Given the description of an element on the screen output the (x, y) to click on. 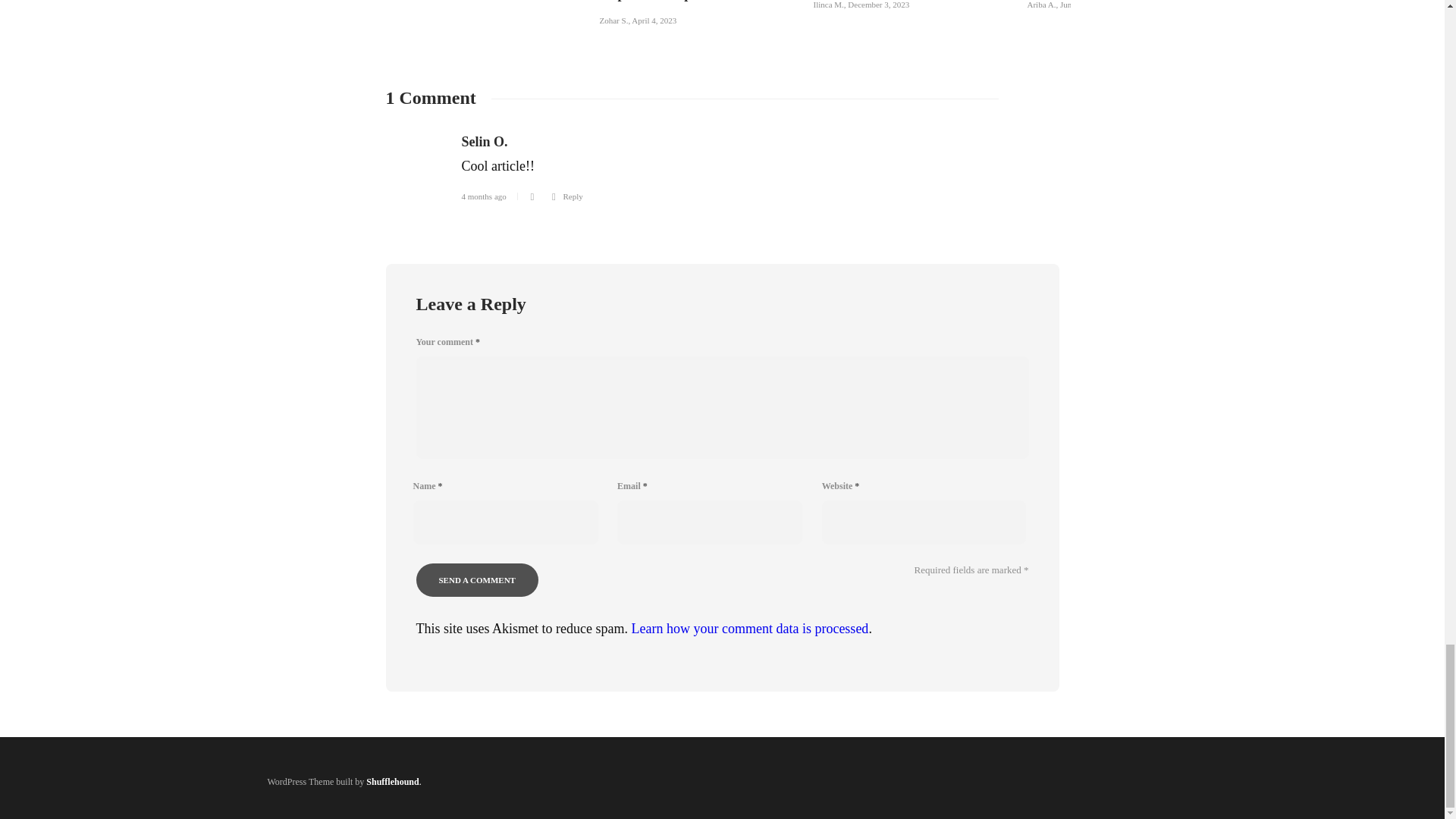
Send a comment (475, 580)
